Given the description of an element on the screen output the (x, y) to click on. 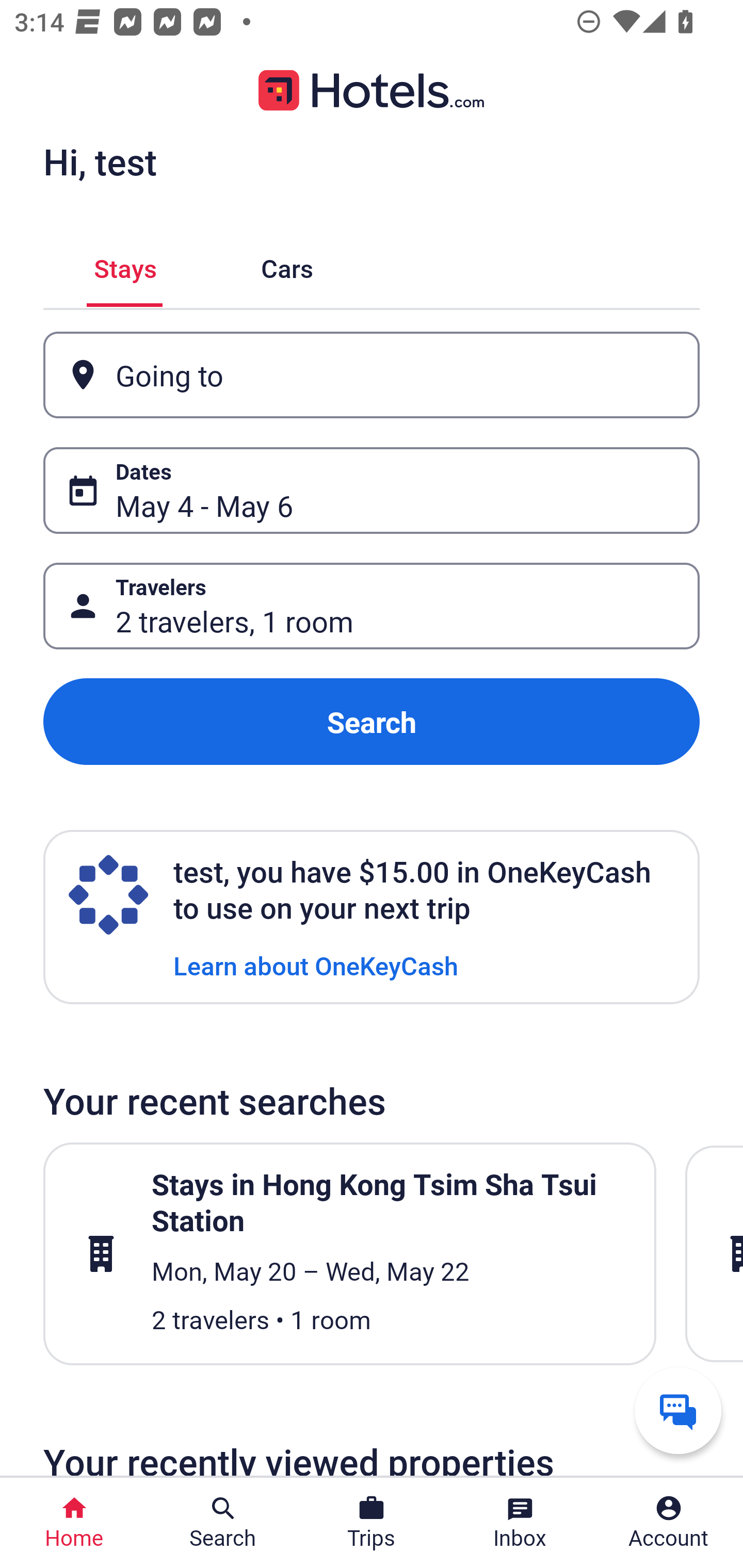
Hi, test (99, 161)
Cars (286, 265)
Going to Button (371, 375)
Dates Button May 4 - May 6 (371, 489)
Travelers Button 2 travelers, 1 room (371, 605)
Search (371, 721)
Learn about OneKeyCash Learn about OneKeyCash Link (315, 964)
Get help from a virtual agent (677, 1410)
Search Search Button (222, 1522)
Trips Trips Button (371, 1522)
Inbox Inbox Button (519, 1522)
Account Profile. Button (668, 1522)
